Given the description of an element on the screen output the (x, y) to click on. 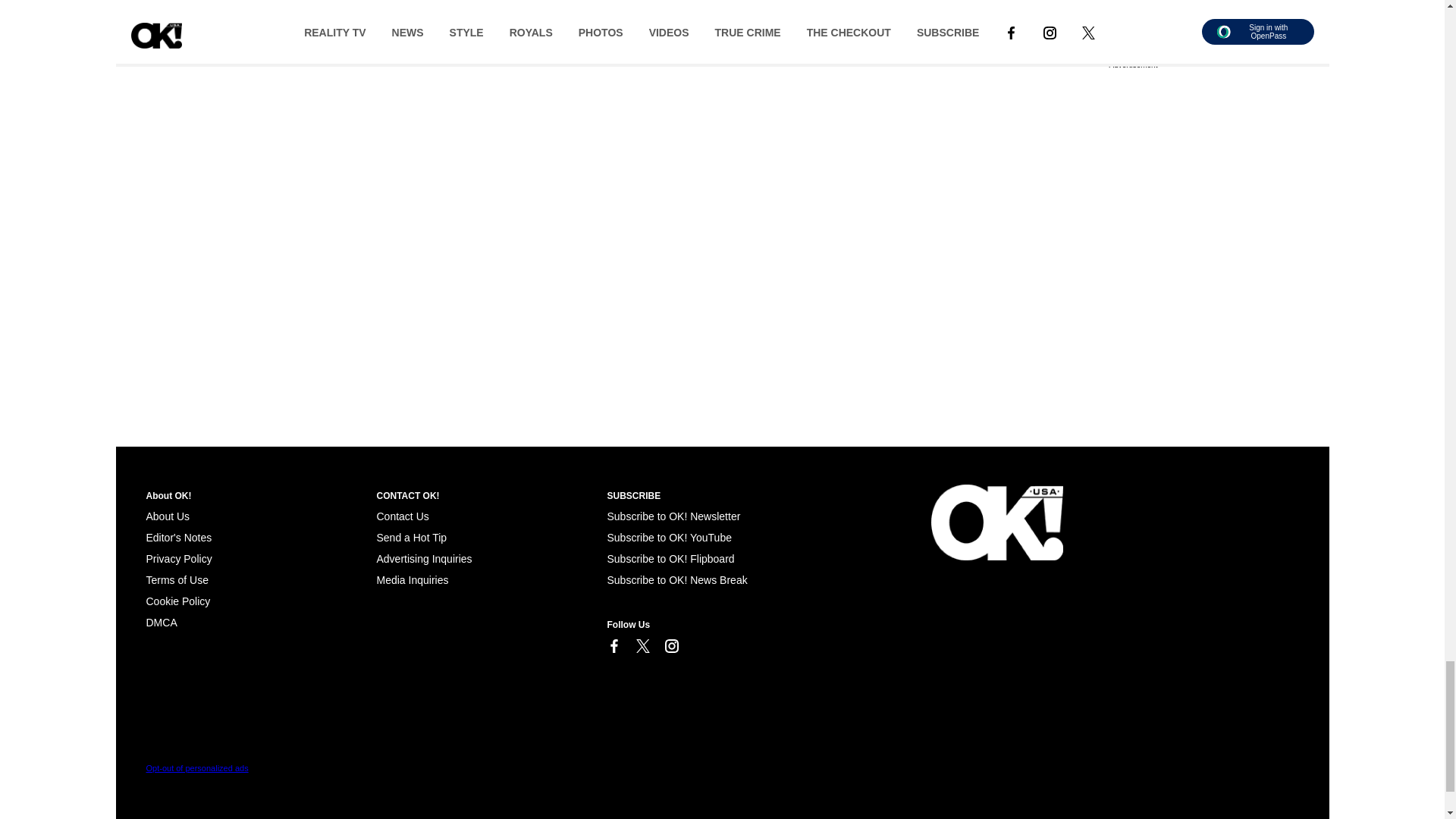
About Us (167, 516)
Link to Facebook (613, 645)
Privacy Policy (178, 558)
Terms of Use (176, 580)
Editor's Notes (178, 537)
Cookie Policy (177, 601)
Link to Instagram (670, 645)
Cookie Policy (160, 622)
Link to X (641, 645)
